Given the description of an element on the screen output the (x, y) to click on. 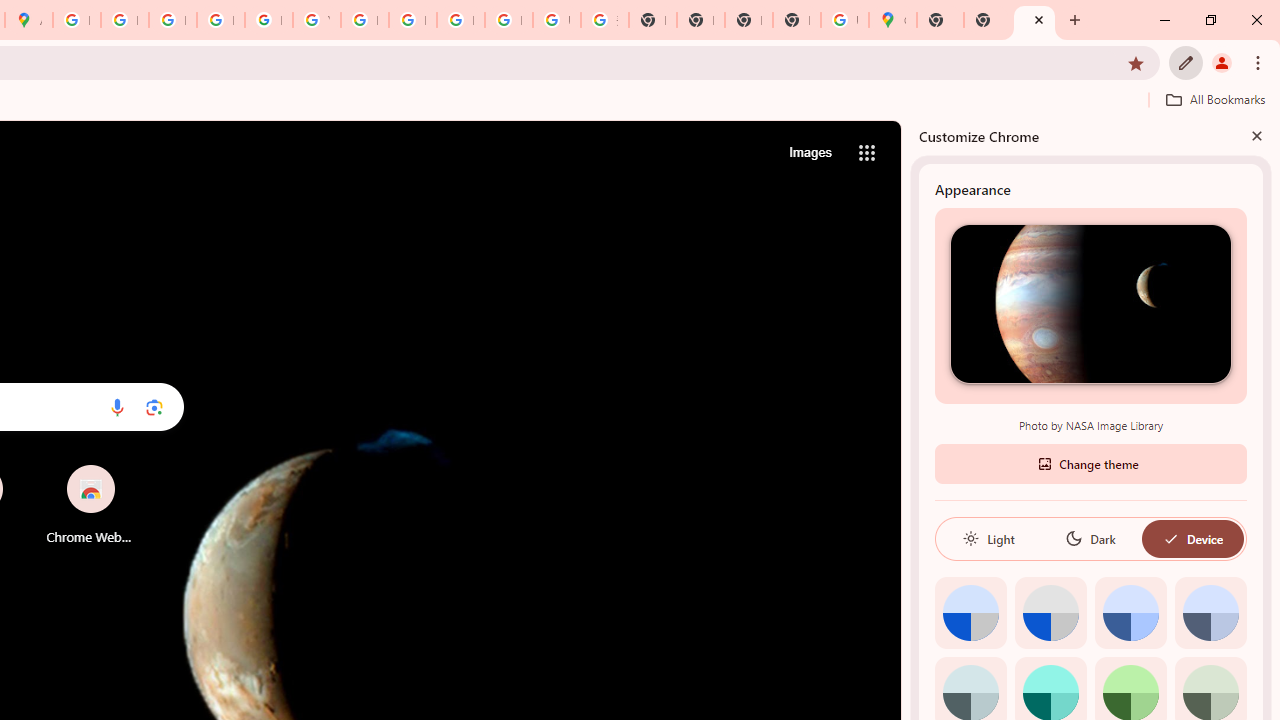
Policy Accountability and Transparency - Transparency Center (76, 20)
New Tab (939, 20)
Device (1192, 538)
Privacy Help Center - Policies Help (172, 20)
Use Google Maps in Space - Google Maps Help (844, 20)
New Tab (796, 20)
Google Maps (892, 20)
Photo by NASA Image Library (1090, 303)
Dark (1090, 538)
